Given the description of an element on the screen output the (x, y) to click on. 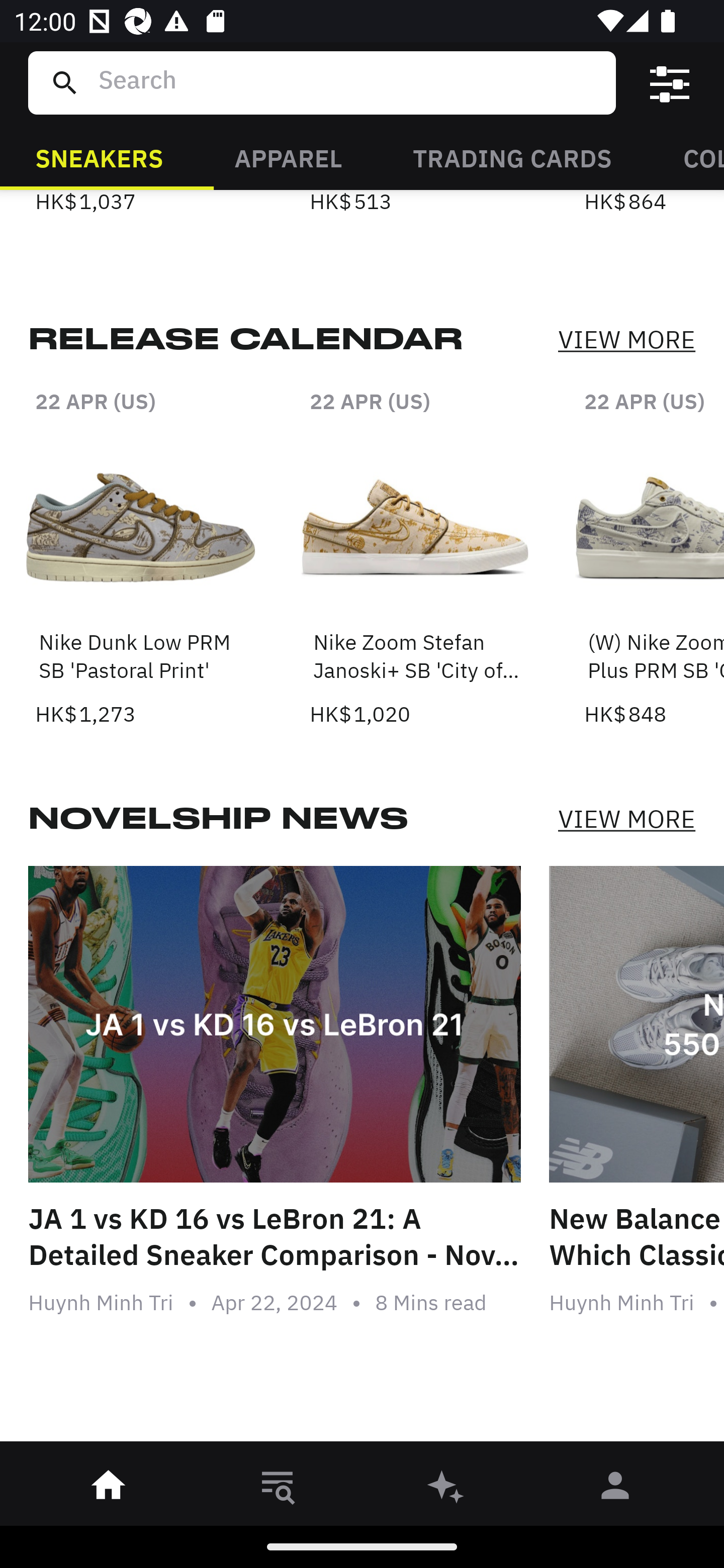
Search (349, 82)
 (669, 82)
SNEAKERS (99, 156)
APPAREL (287, 156)
TRADING CARDS (512, 156)
VIEW MORE (626, 339)
VIEW MORE (626, 818)
󰋜 (108, 1488)
󱎸 (277, 1488)
󰫢 (446, 1488)
󰀄 (615, 1488)
